Given the description of an element on the screen output the (x, y) to click on. 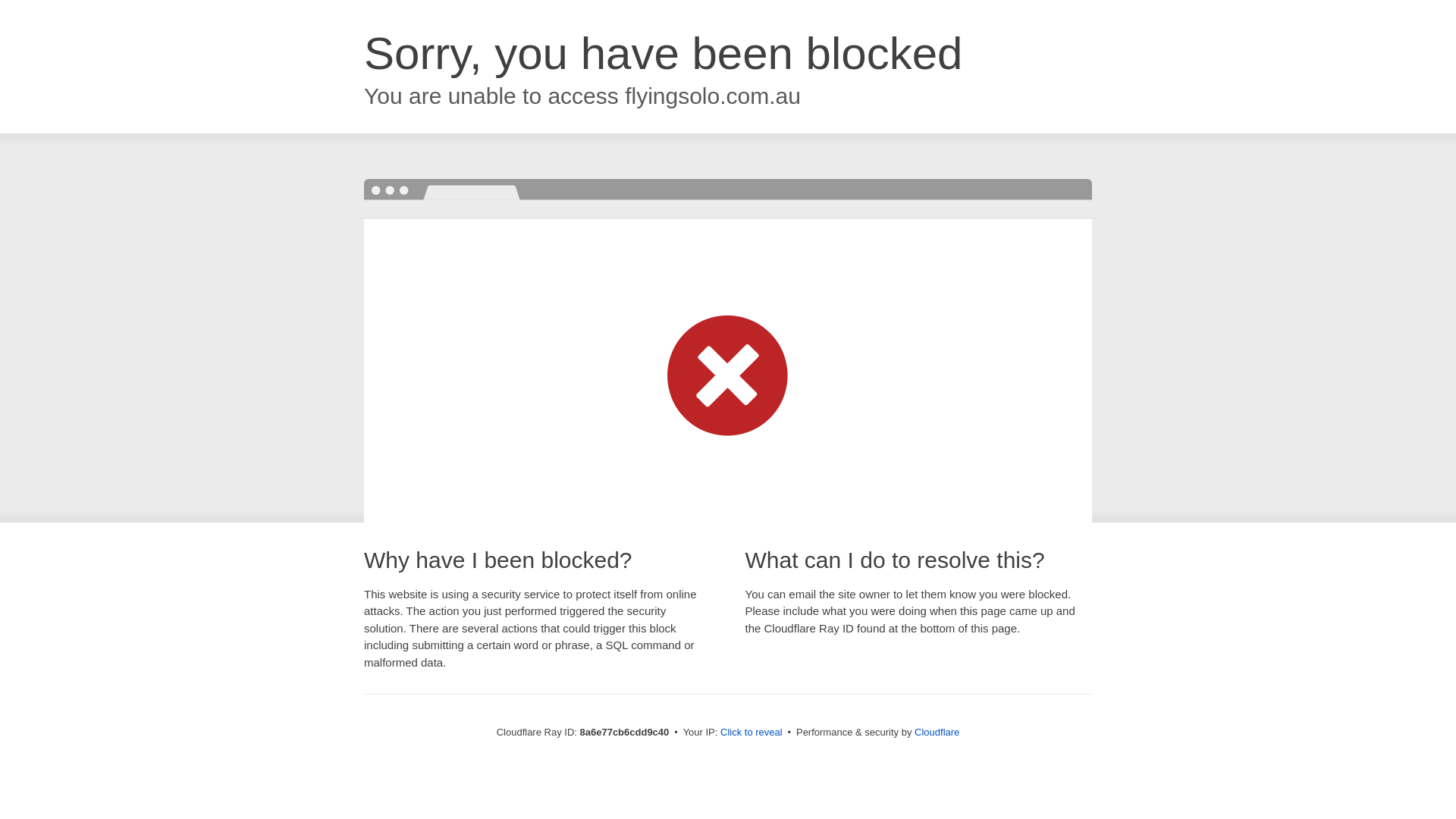
Cloudflare (936, 731)
Click to reveal (751, 732)
